Given the description of an element on the screen output the (x, y) to click on. 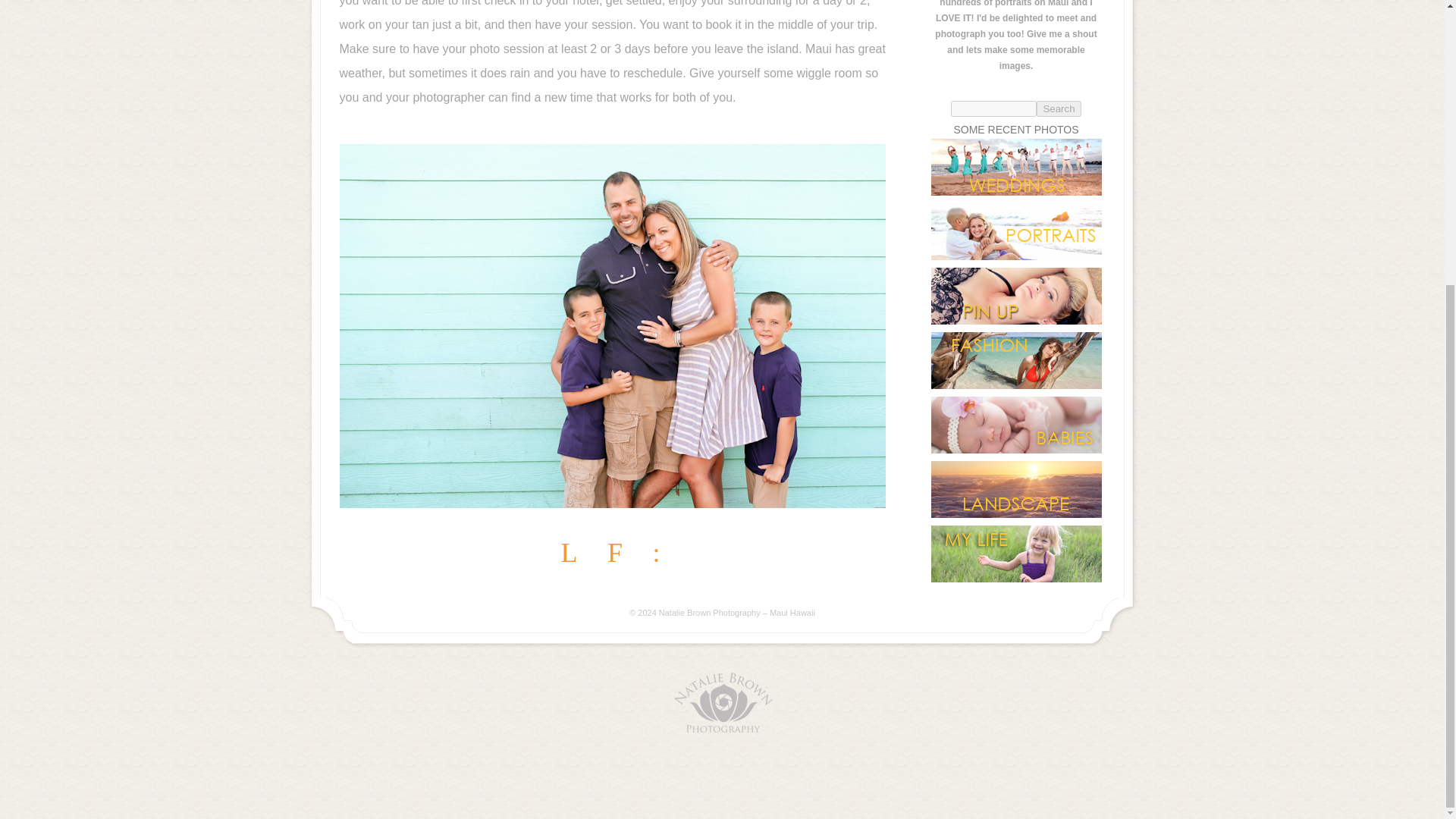
Search (1058, 108)
L (568, 552)
Search (1058, 108)
: (655, 552)
Search (1058, 108)
F (615, 552)
